Given the description of an element on the screen output the (x, y) to click on. 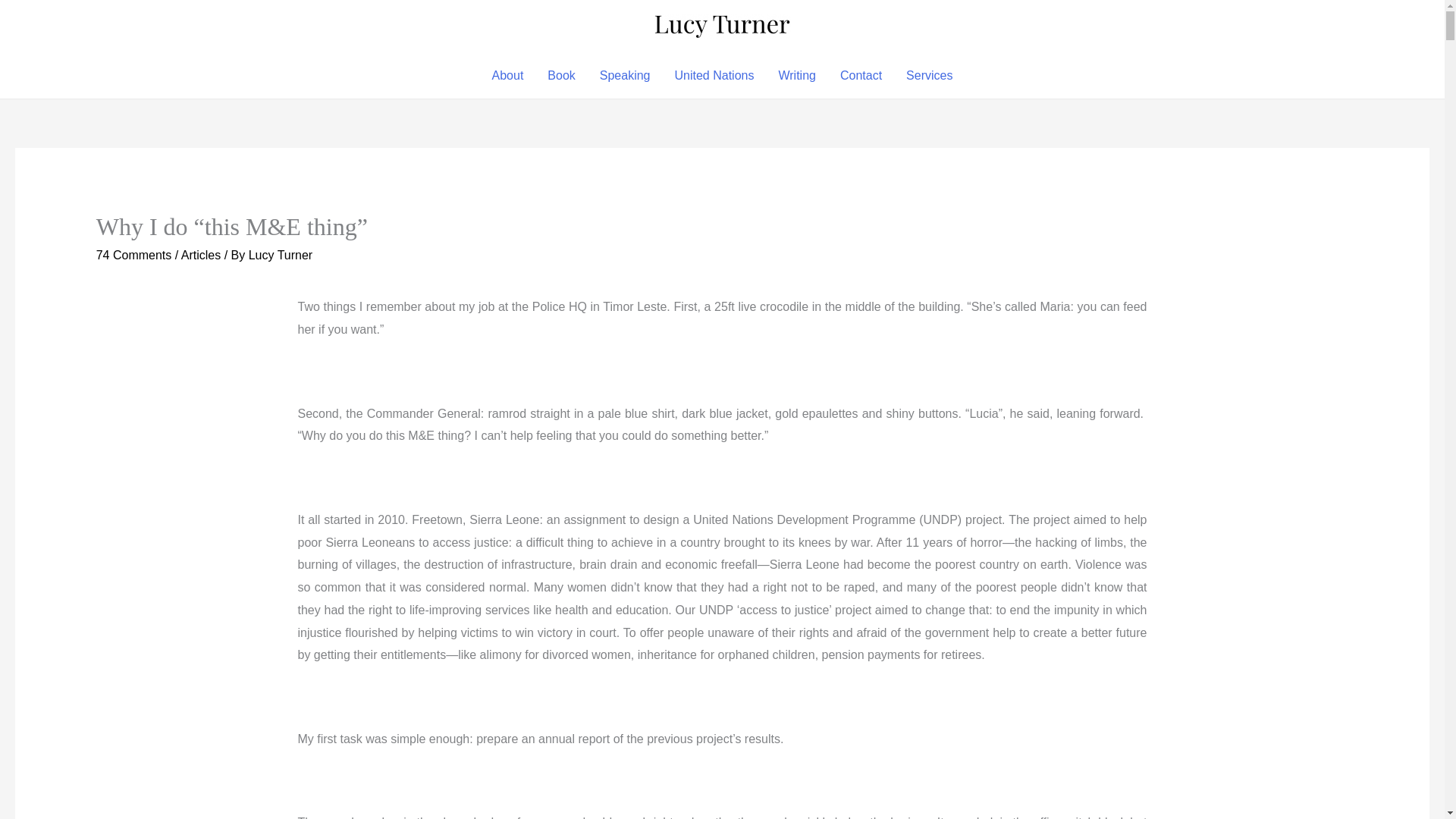
Articles (200, 254)
74 Comments (133, 254)
Contact (860, 75)
Speaking (625, 75)
United Nations (714, 75)
Writing (796, 75)
View all posts by Lucy Turner (280, 254)
Services (928, 75)
Book (560, 75)
About (507, 75)
Lucy Turner (280, 254)
